Given the description of an element on the screen output the (x, y) to click on. 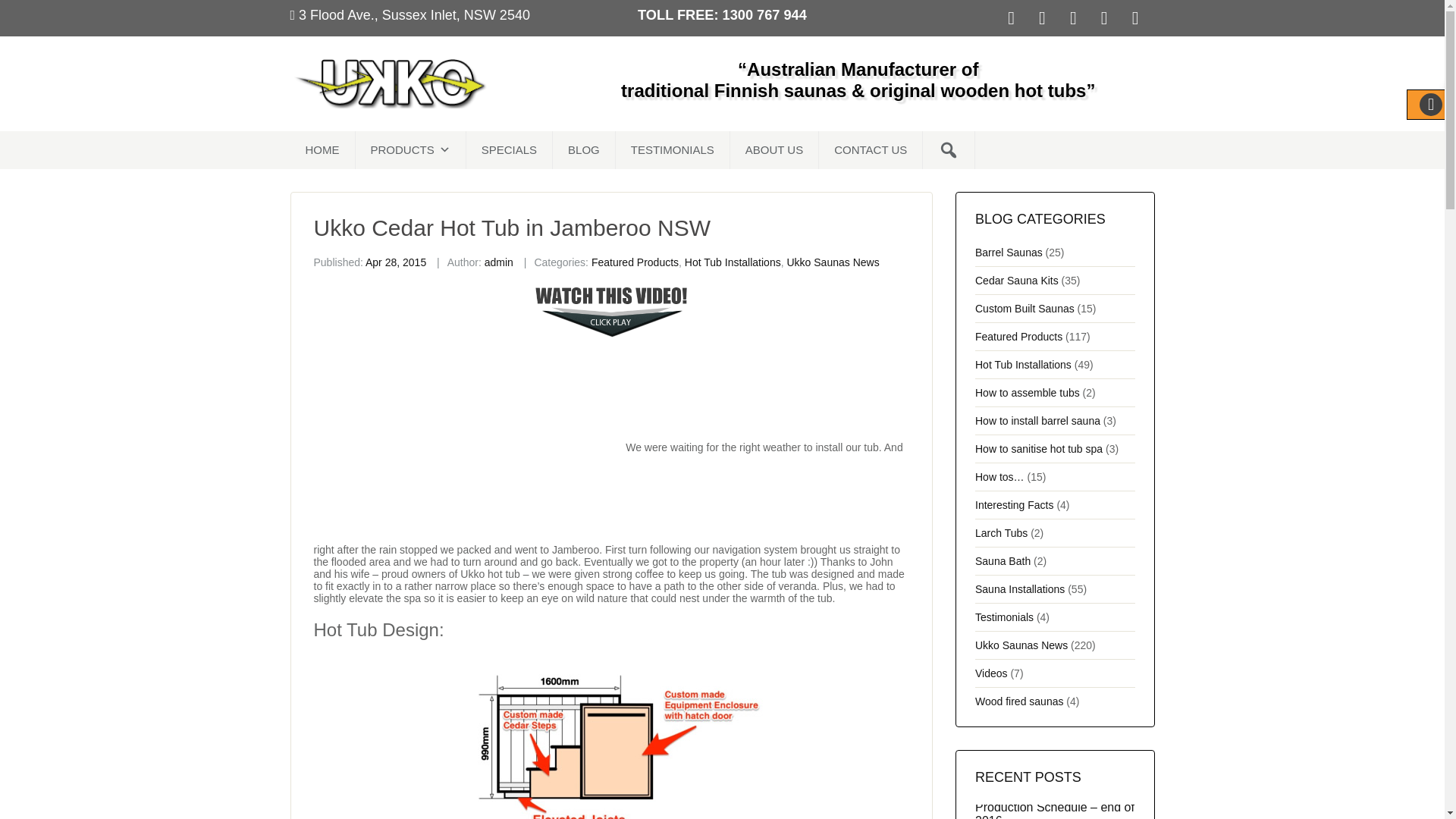
PRODUCTS (410, 149)
Connect us on  (1108, 17)
Featured Products (634, 262)
Connect us on  (1045, 17)
Barrel Saunas (1008, 251)
admin (498, 262)
Hot Tub Installations (732, 262)
Connect us on  (1014, 17)
HOME (322, 149)
